Given the description of an element on the screen output the (x, y) to click on. 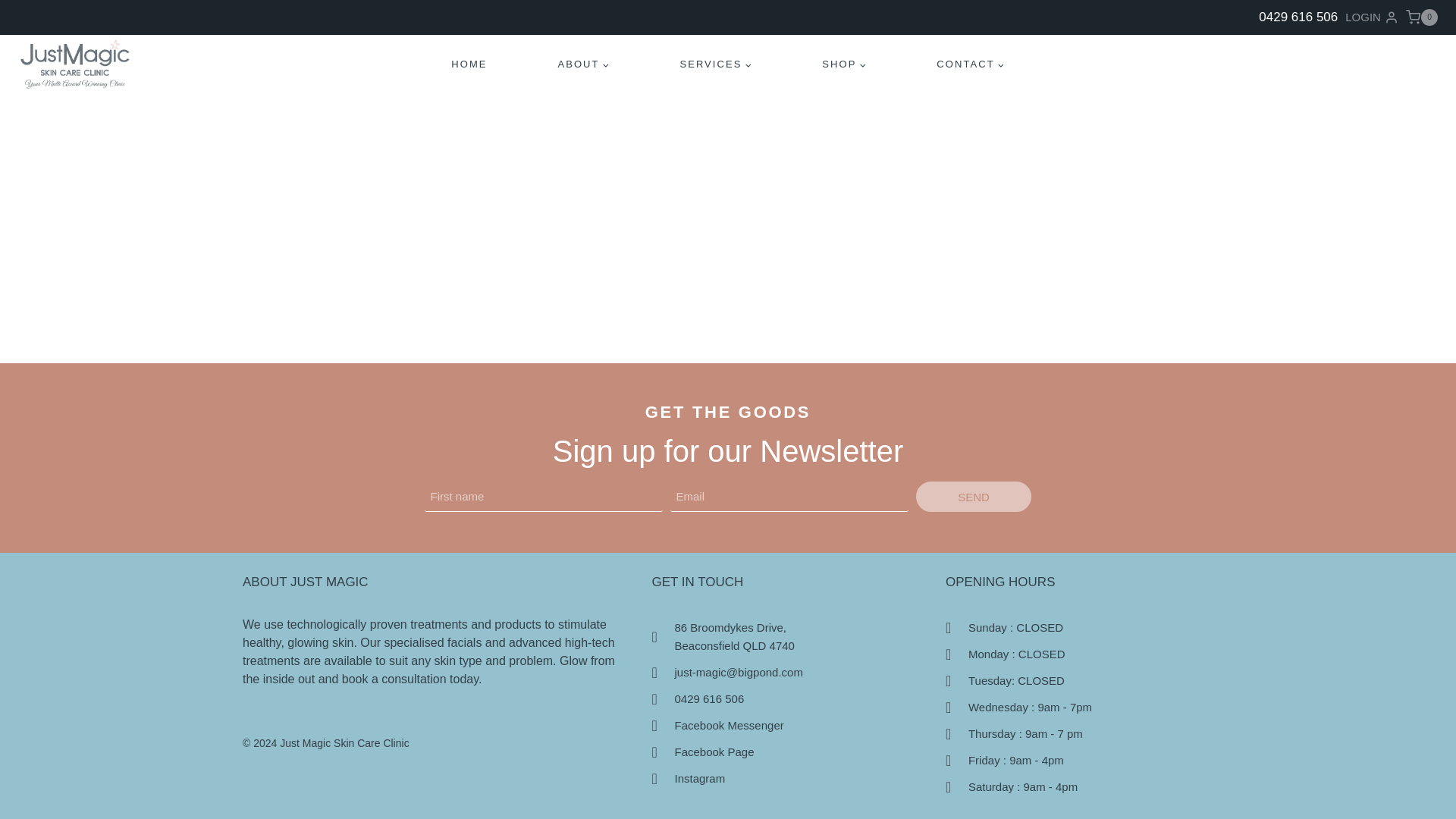
Instagram (790, 778)
0429 616 506 (790, 699)
LOGIN (1371, 17)
Facebook Messenger (790, 725)
SEND (790, 637)
Facebook Page (972, 496)
ABOUT (790, 751)
SHOP (583, 63)
SERVICES (844, 63)
CONTACT (716, 63)
0 (970, 63)
HOME (1422, 17)
